Given the description of an element on the screen output the (x, y) to click on. 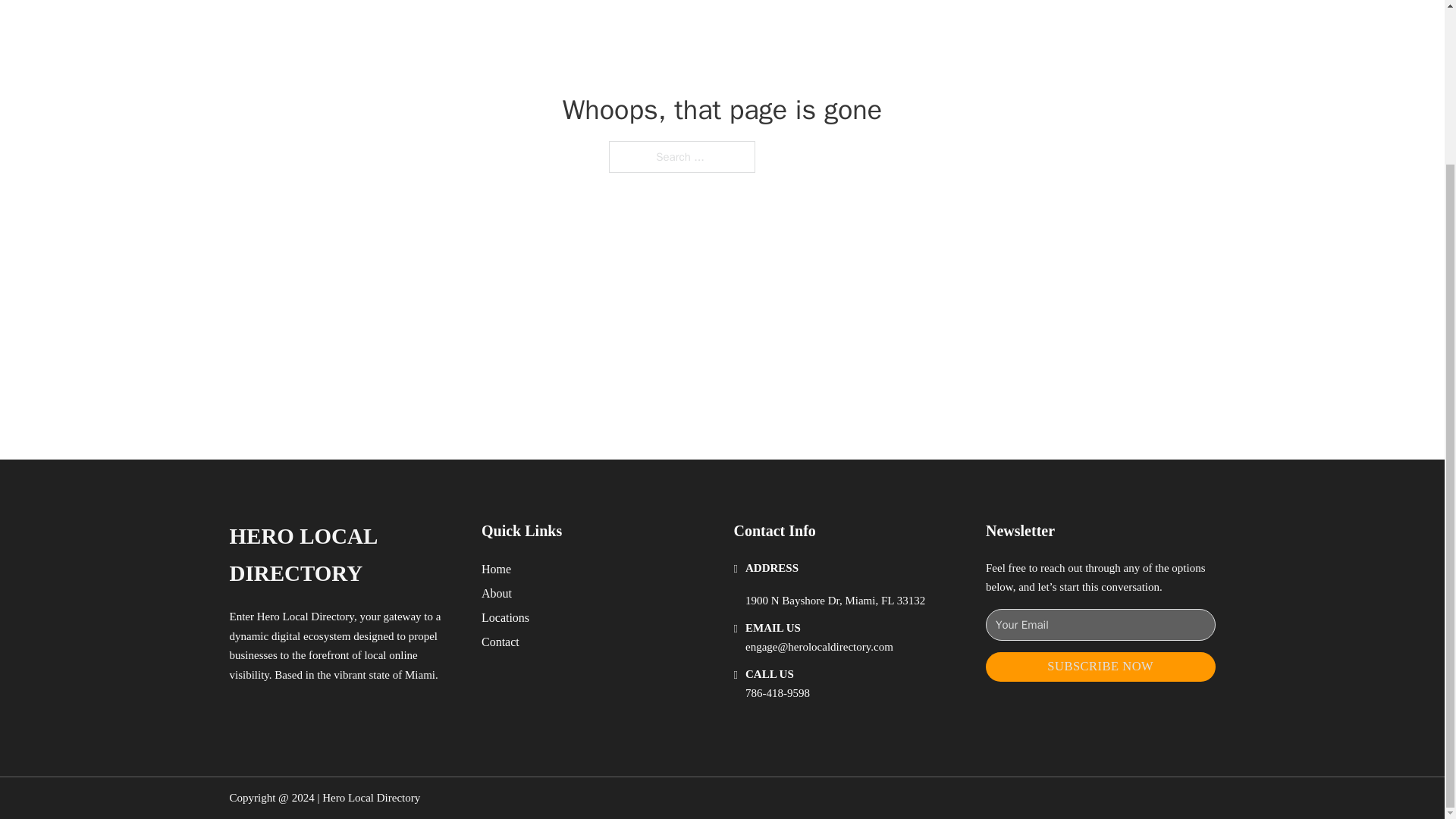
Locations (505, 617)
786-418-9598 (777, 693)
Contact (500, 641)
About (496, 593)
SUBSCRIBE NOW (1100, 666)
Home (496, 568)
HERO LOCAL DIRECTORY (343, 554)
